Given the description of an element on the screen output the (x, y) to click on. 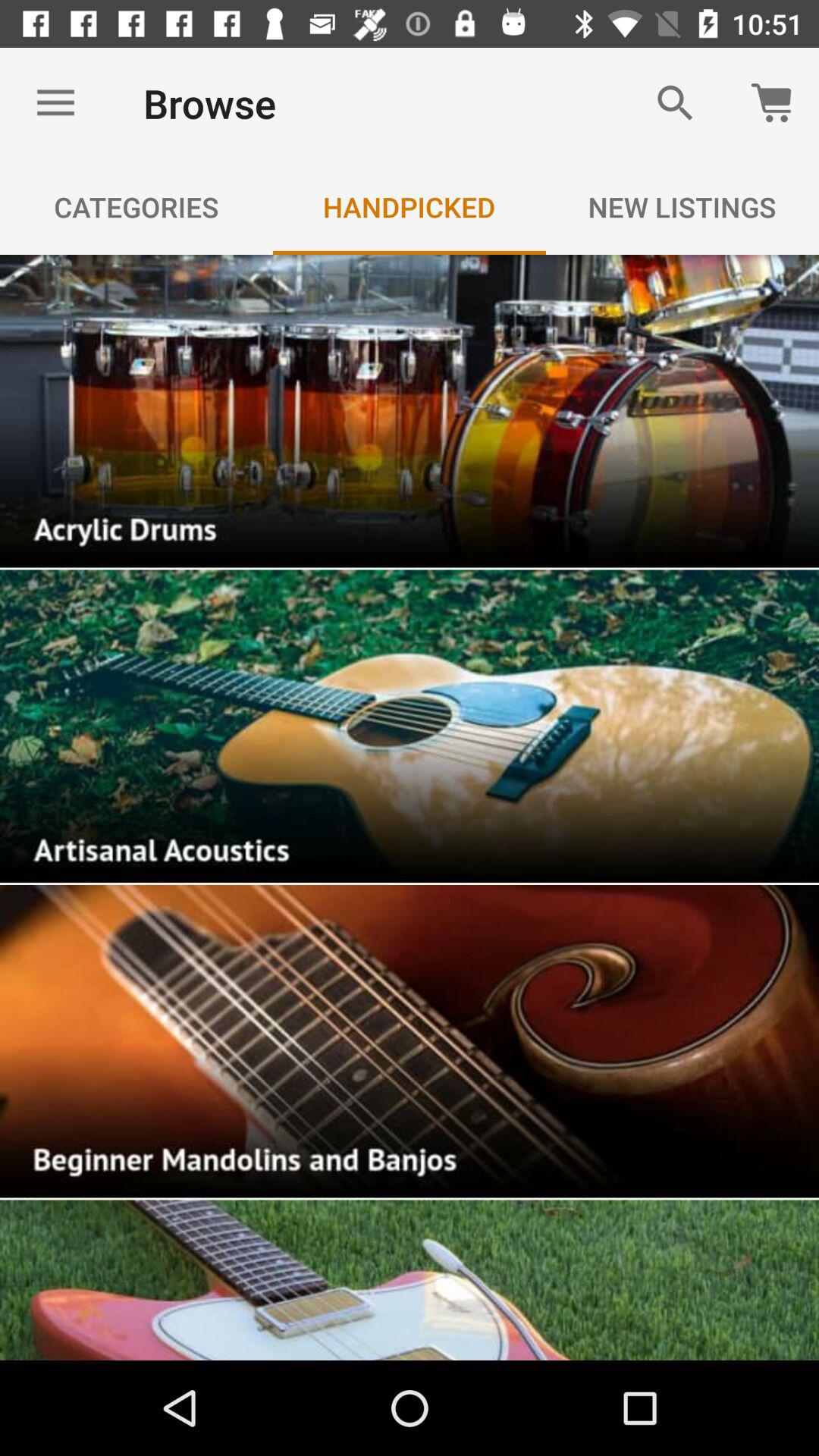
turn off the item to the right of browse (675, 103)
